Given the description of an element on the screen output the (x, y) to click on. 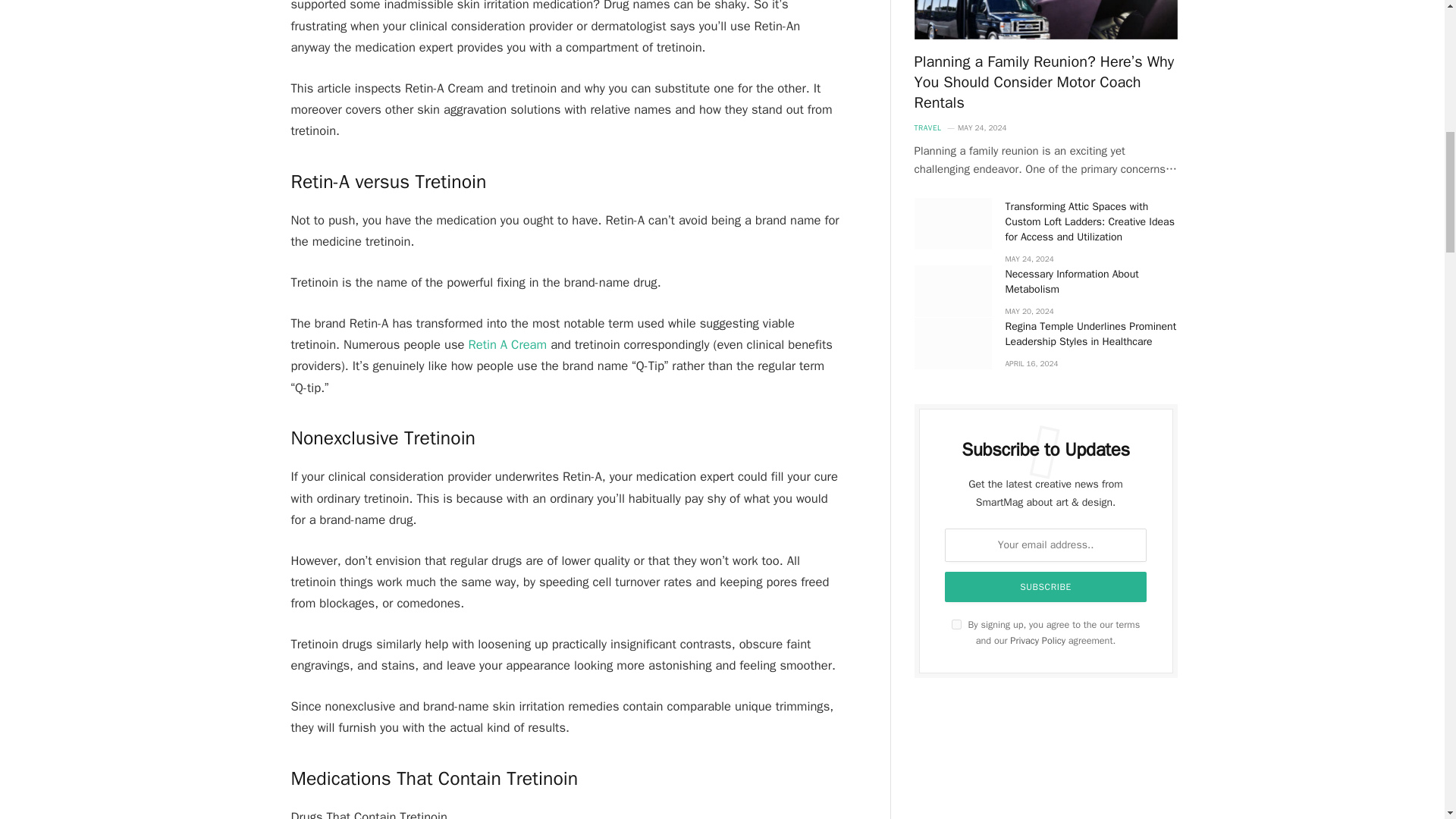
Subscribe (1045, 586)
on (956, 624)
